Given the description of an element on the screen output the (x, y) to click on. 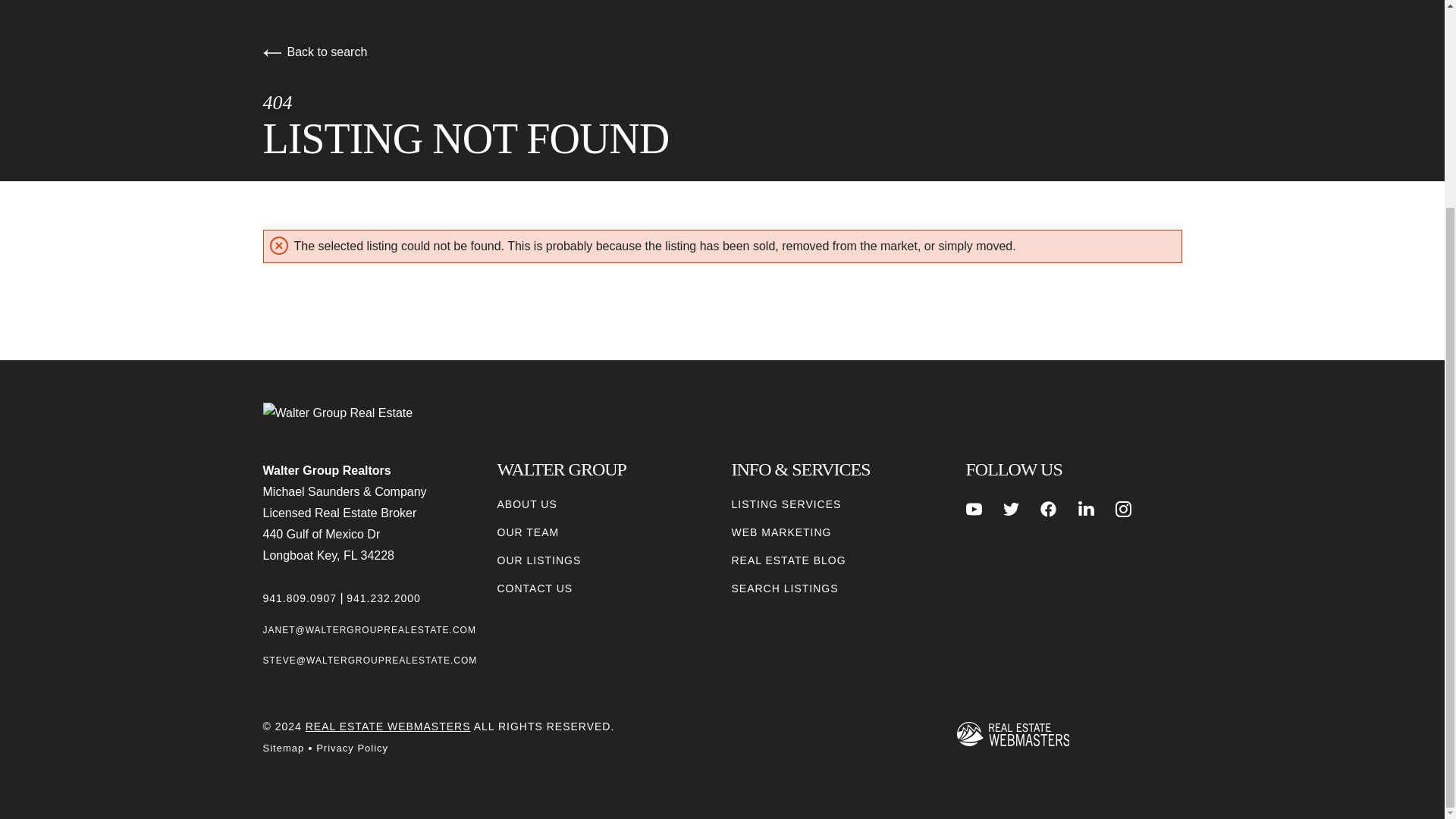
FACEBOOK (1049, 508)
YOUTUBE (973, 508)
LINKEDIN (1086, 508)
TWITTER (1011, 508)
